Given the description of an element on the screen output the (x, y) to click on. 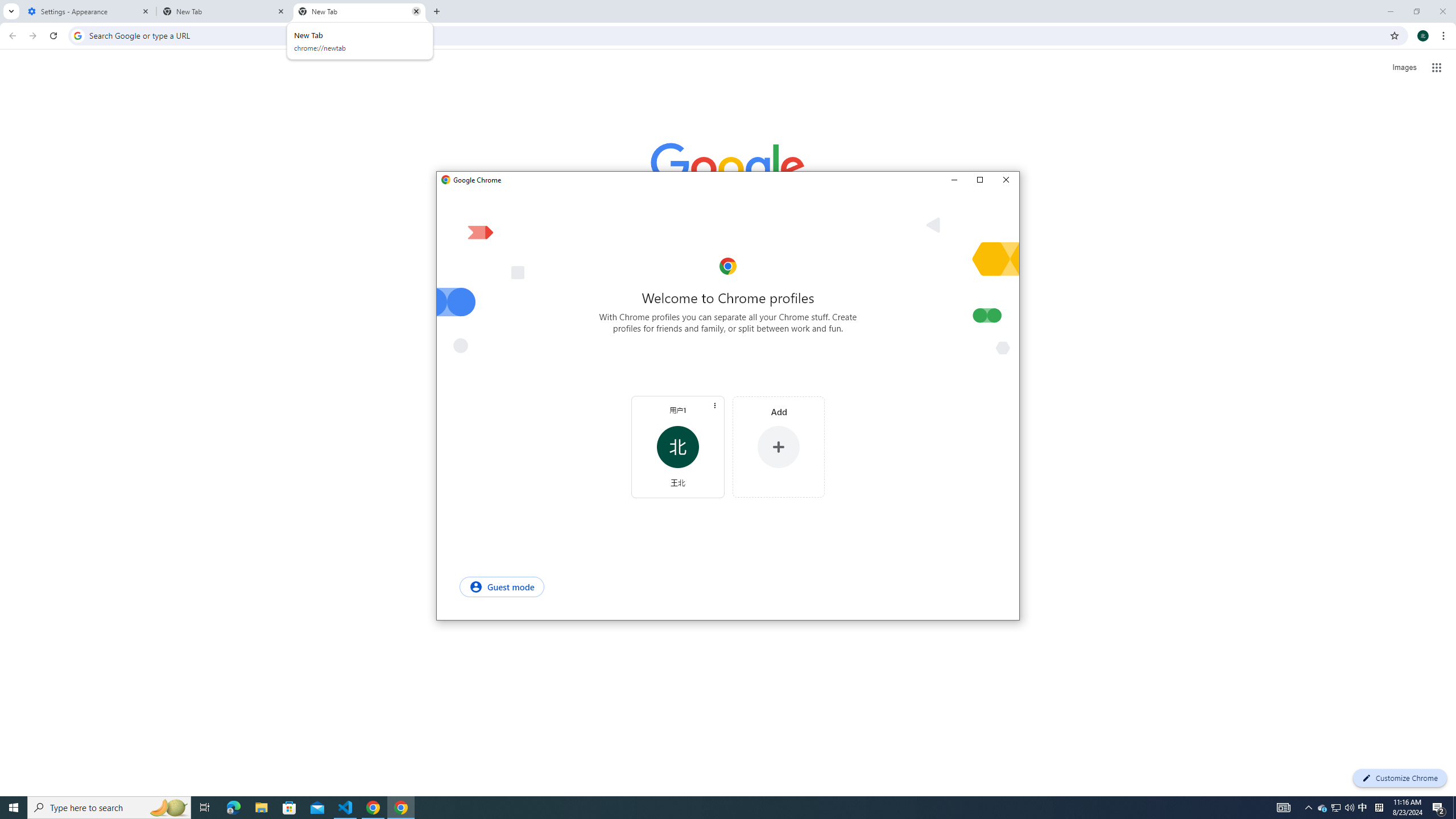
Start (13, 807)
Add (778, 446)
Task View (204, 807)
AutomationID: 4105 (1283, 807)
Show desktop (1454, 807)
Guest mode (502, 586)
File Explorer (261, 807)
